Given the description of an element on the screen output the (x, y) to click on. 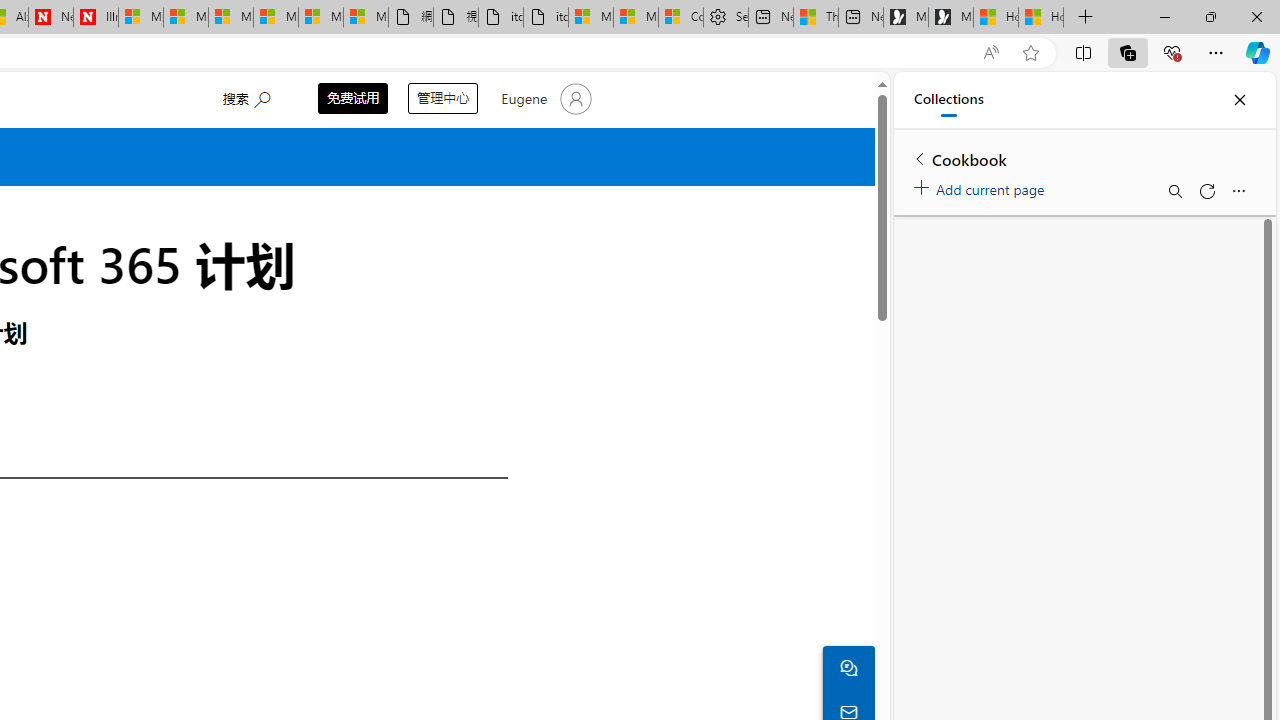
Illness news & latest pictures from Newsweek.com (95, 17)
Three Ways To Stop Sweating So Much (815, 17)
